Given the description of an element on the screen output the (x, y) to click on. 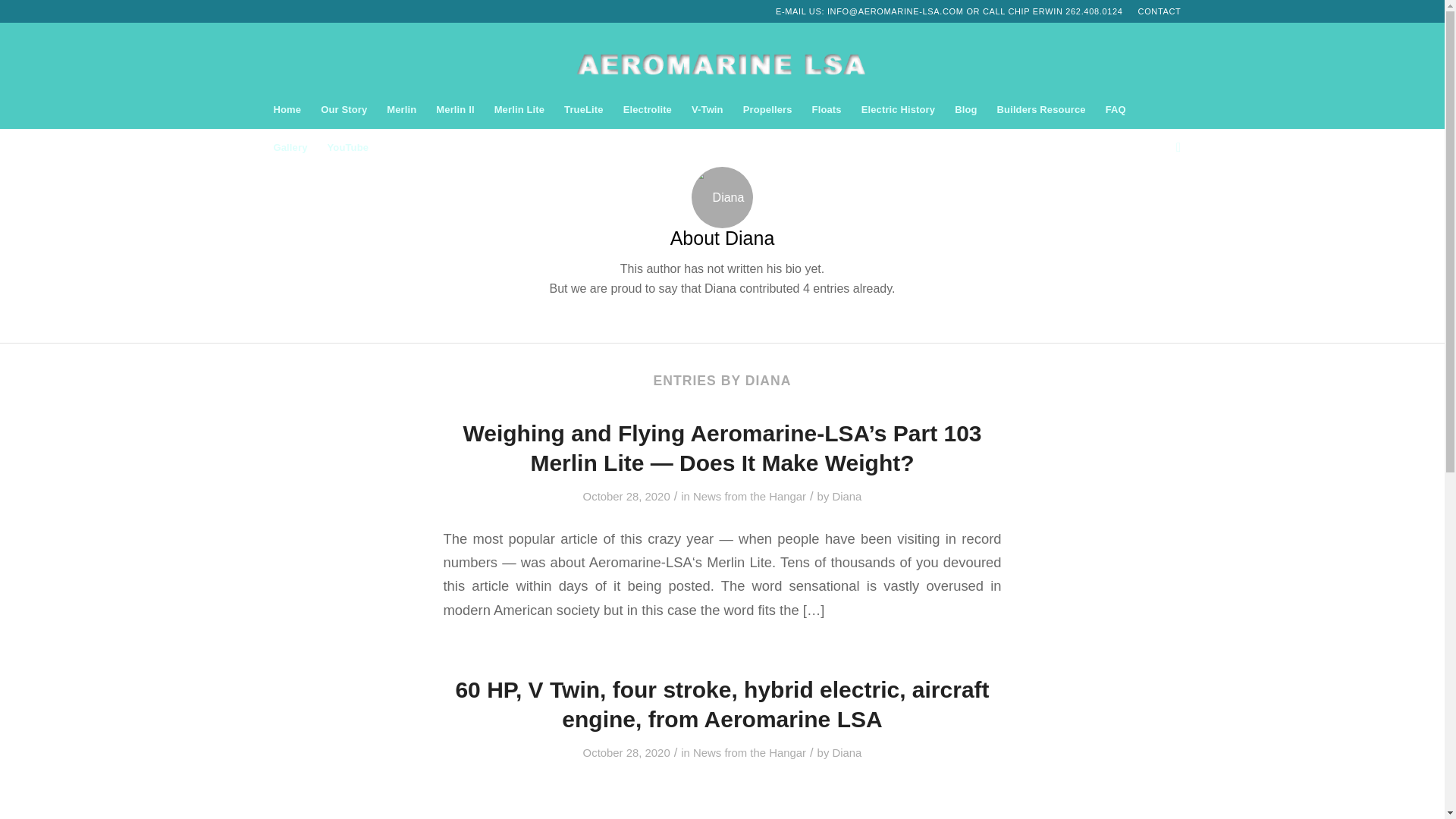
aeromarine-logo (722, 56)
YouTube (347, 147)
Merlin Lite (519, 109)
Propellers (767, 109)
News from the Hangar (749, 752)
TrueLite (583, 109)
Blog (965, 109)
Electric History (897, 109)
FAQ (1115, 109)
Builders Resource (1041, 109)
Gallery (290, 147)
Flying Merlin Lite 0920 (721, 817)
Our Story (344, 109)
Permanent Link: Flying Merlin Lite 0920 (721, 817)
CONTACT (1159, 11)
